Given the description of an element on the screen output the (x, y) to click on. 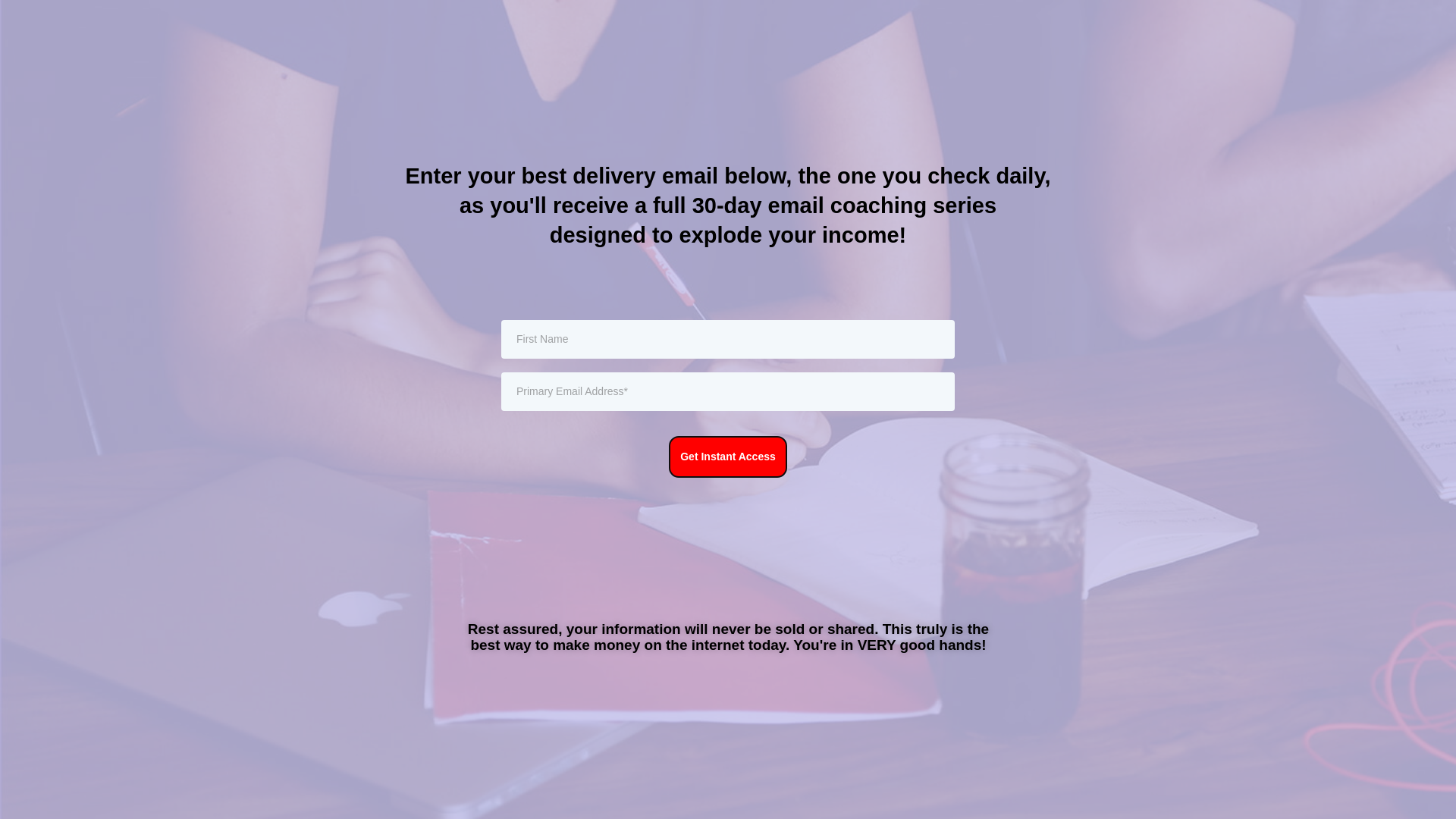
make money Element type: text (596, 644)
